Given the description of an element on the screen output the (x, y) to click on. 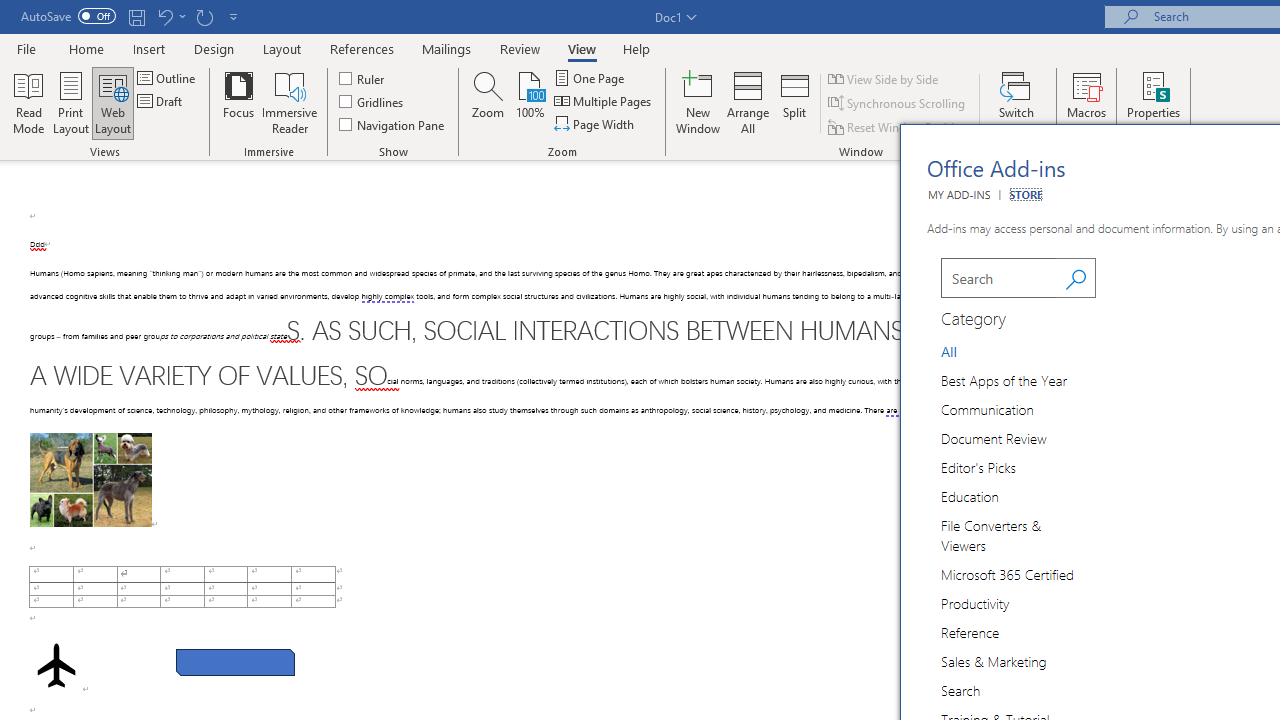
Arrange All (747, 102)
Wikipedia icon (1137, 569)
Airplane with solid fill (56, 665)
Focus (238, 102)
Undo Paragraph Alignment (170, 15)
Category Group Productivity 9 of 14 (978, 602)
Pickit | Make impactful presentations in minutes icon (1137, 344)
Category Group Editor's Picks 5 of 14 (982, 466)
One Page (590, 78)
Category Group Sales & Marketing 11 of 14 (997, 660)
